Given the description of an element on the screen output the (x, y) to click on. 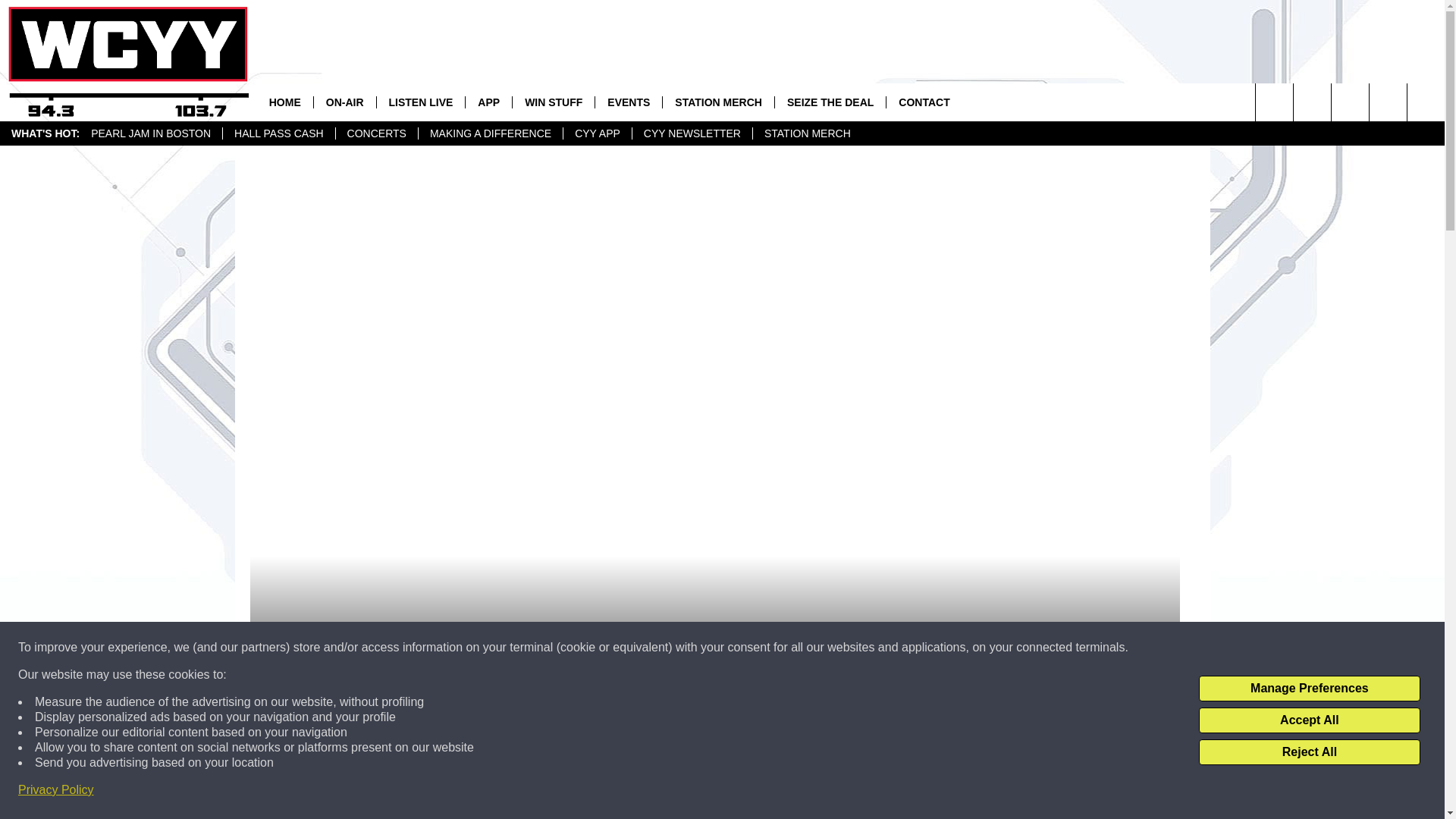
CYY APP (596, 133)
CONCERTS (375, 133)
Privacy Policy (55, 789)
WIN STUFF (553, 102)
PEARL JAM IN BOSTON (151, 133)
Manage Preferences (1309, 688)
ON-AIR (344, 102)
Share on Twitter (912, 791)
Accept All (1309, 720)
EVENTS (628, 102)
STATION MERCH (806, 133)
CYY NEWSLETTER (691, 133)
Reject All (1309, 751)
STATION MERCH (718, 102)
APP (488, 102)
